Given the description of an element on the screen output the (x, y) to click on. 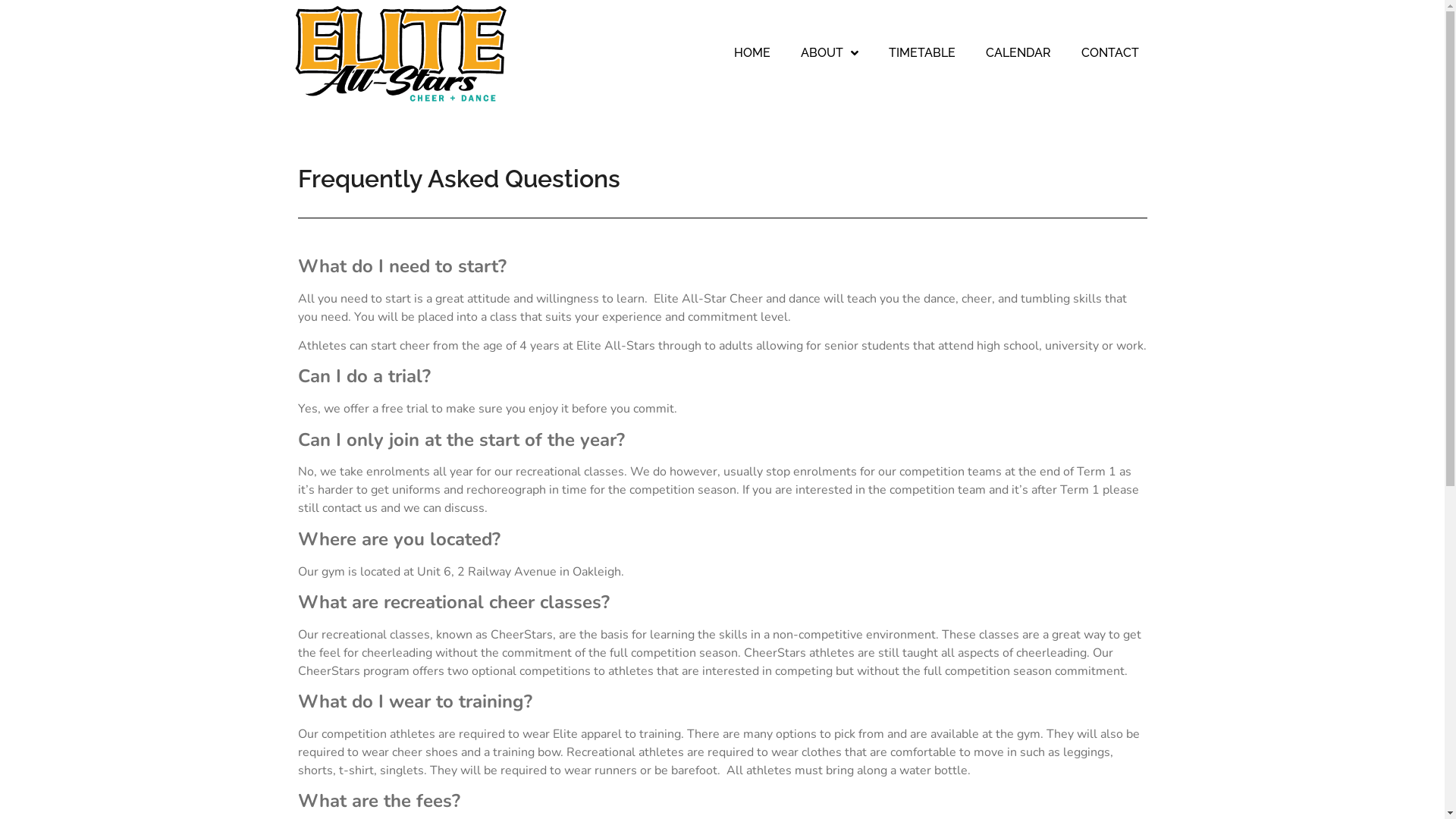
TIMETABLE Element type: text (921, 52)
CALENDAR Element type: text (1018, 52)
CONTACT Element type: text (1110, 52)
HOME Element type: text (751, 52)
ABOUT Element type: text (829, 52)
